Given the description of an element on the screen output the (x, y) to click on. 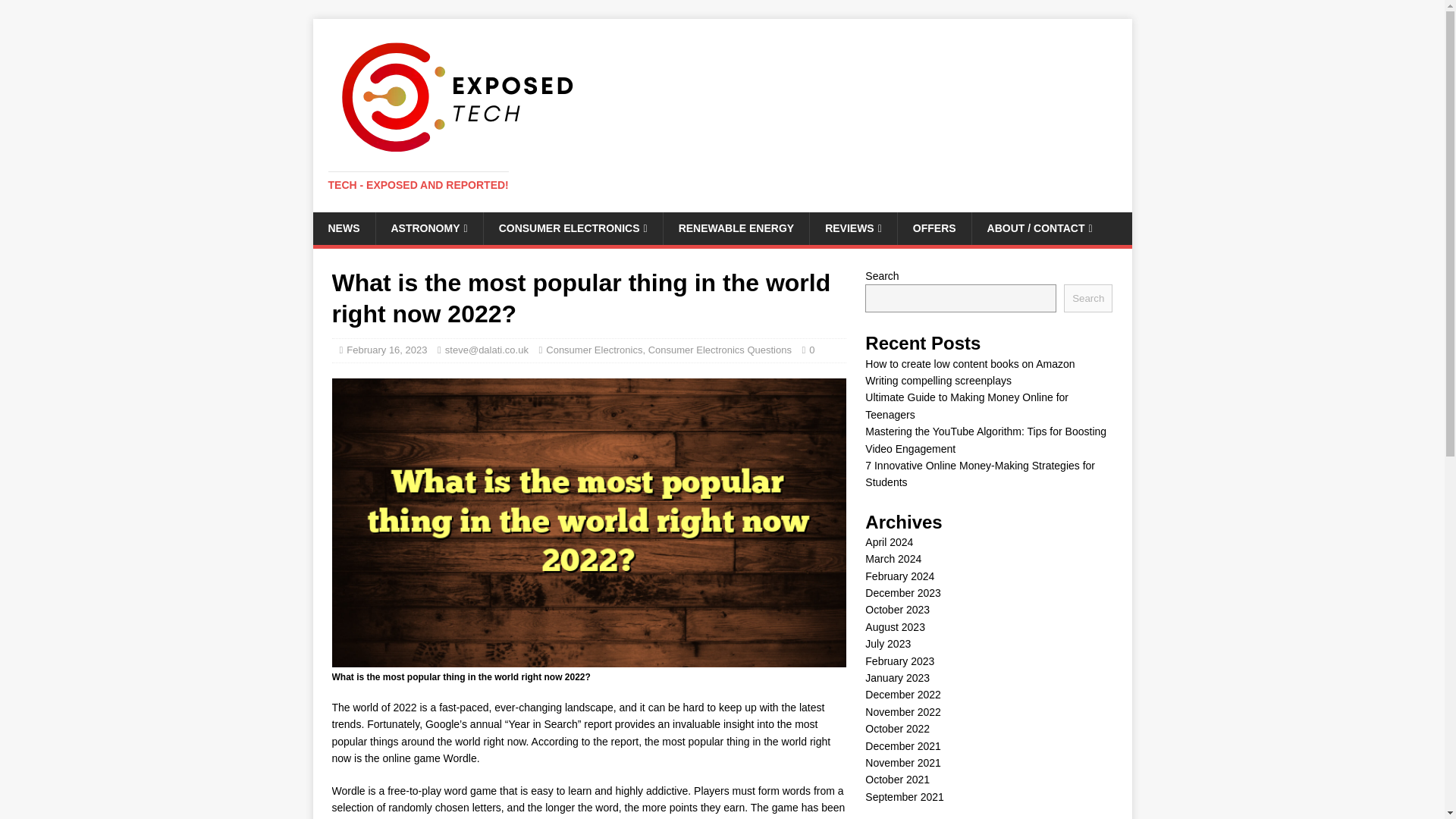
REVIEWS (852, 228)
TECH - EXPOSED AND REPORTED! (417, 184)
RENEWABLE ENERGY (735, 228)
How to create low content books on Amazon (969, 363)
Consumer Electronics (594, 349)
Search (1088, 298)
Consumer Electronics Questions (719, 349)
February 16, 2023 (386, 349)
OFFERS (933, 228)
